Given the description of an element on the screen output the (x, y) to click on. 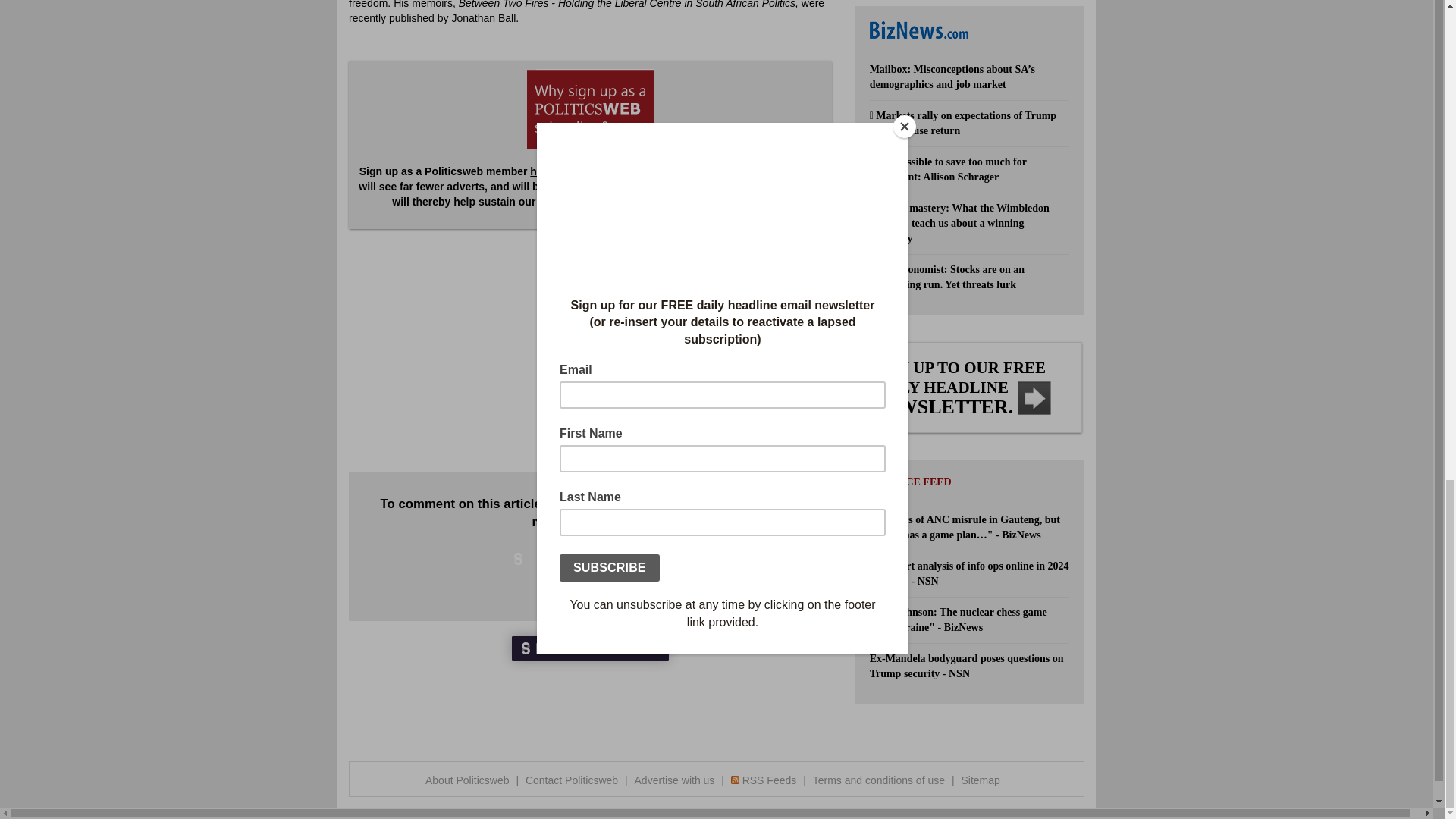
An all too rare case of business leadership (697, 392)
here (541, 171)
Fire Professor Chris Malikane immediately! - David Maynier (696, 431)
Ramaphosa: Can a leopard change his blind spots? (714, 352)
